Given the description of an element on the screen output the (x, y) to click on. 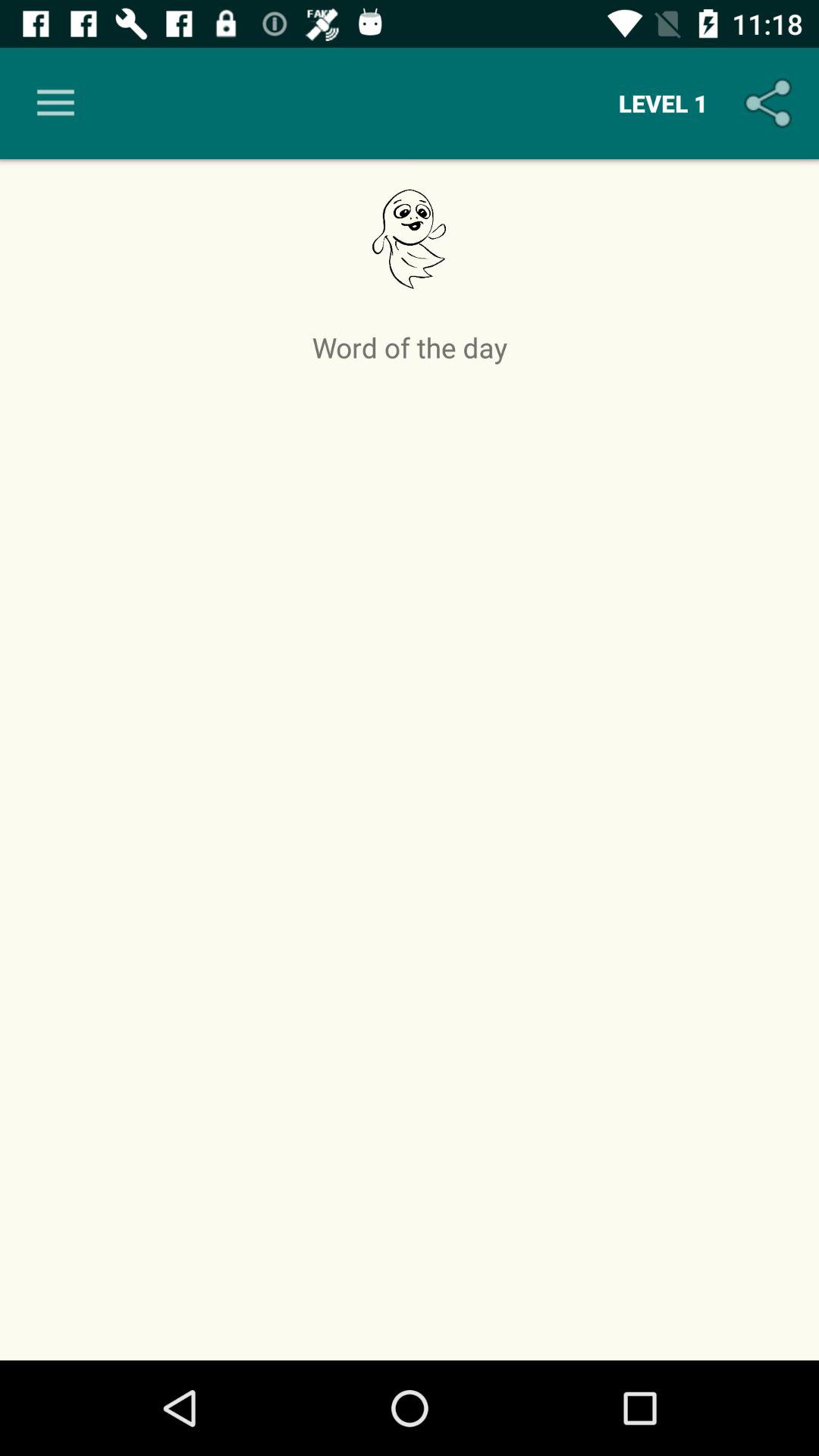
jump to the level 1 icon (662, 103)
